Given the description of an element on the screen output the (x, y) to click on. 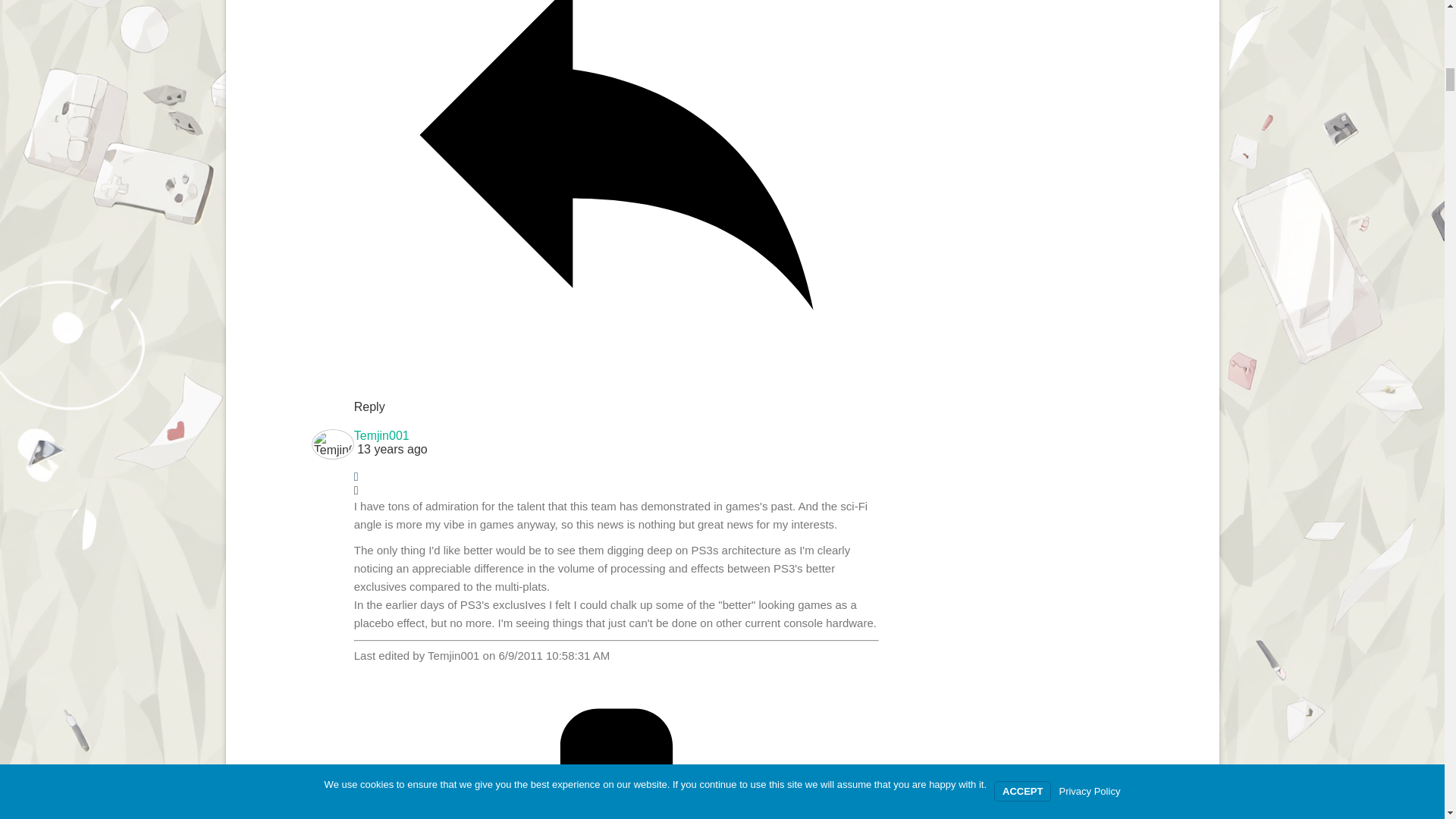
June 9, 2011 12:00 am (616, 449)
